Given the description of an element on the screen output the (x, y) to click on. 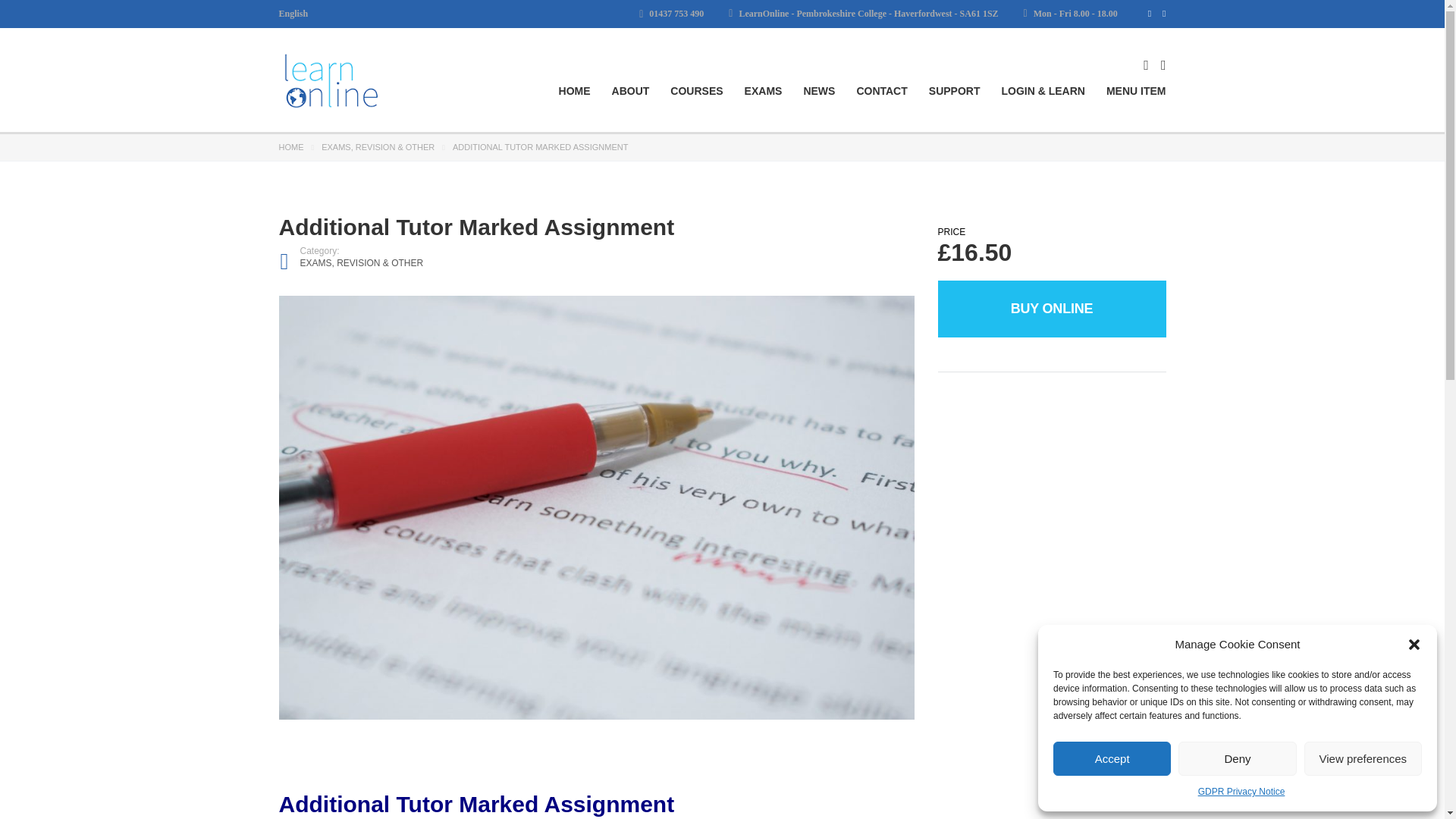
Deny (1236, 758)
Accept (1111, 758)
GDPR Privacy Notice (1241, 791)
View preferences (1363, 758)
